Given the description of an element on the screen output the (x, y) to click on. 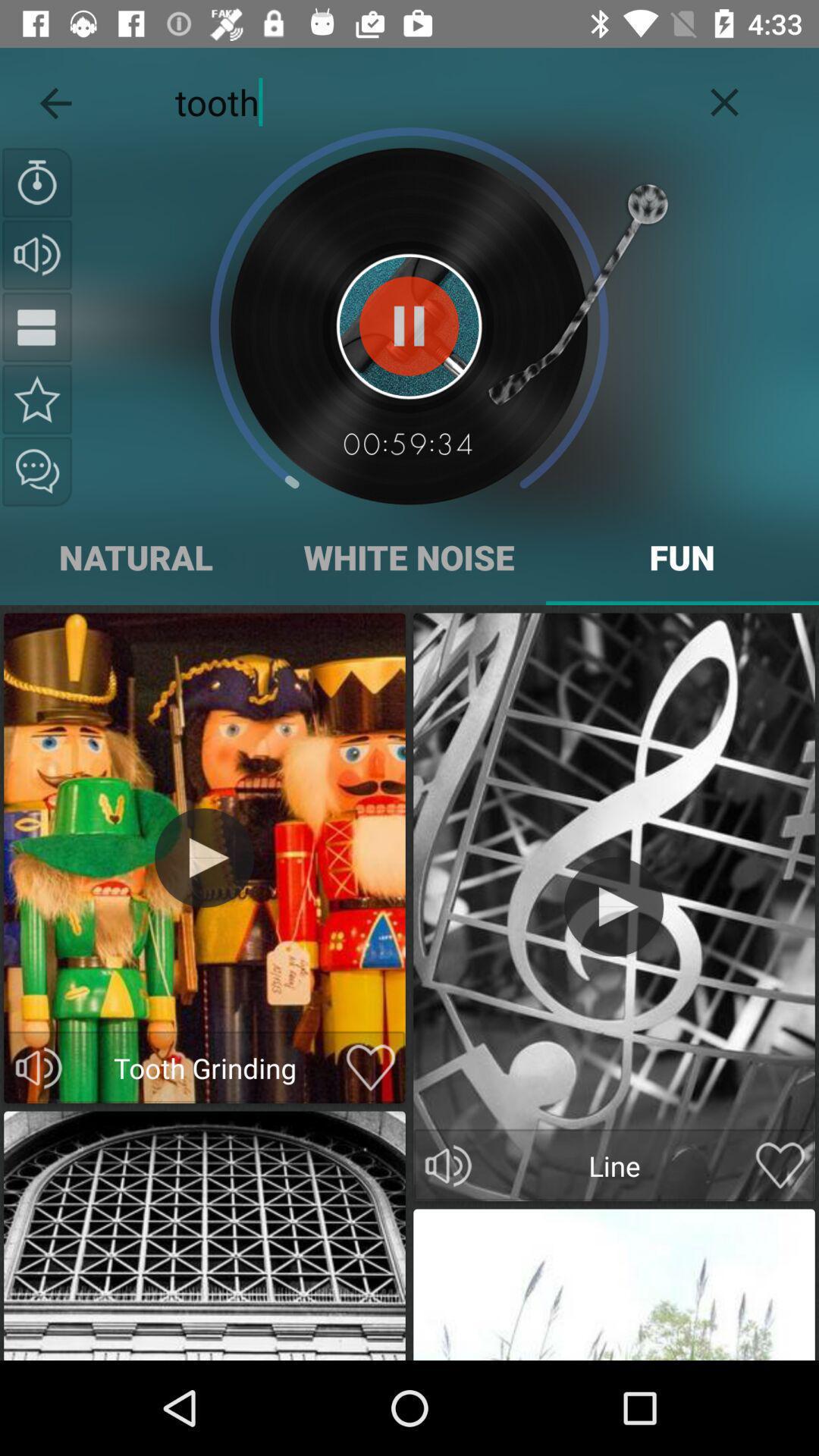
play sound (613, 906)
